Given the description of an element on the screen output the (x, y) to click on. 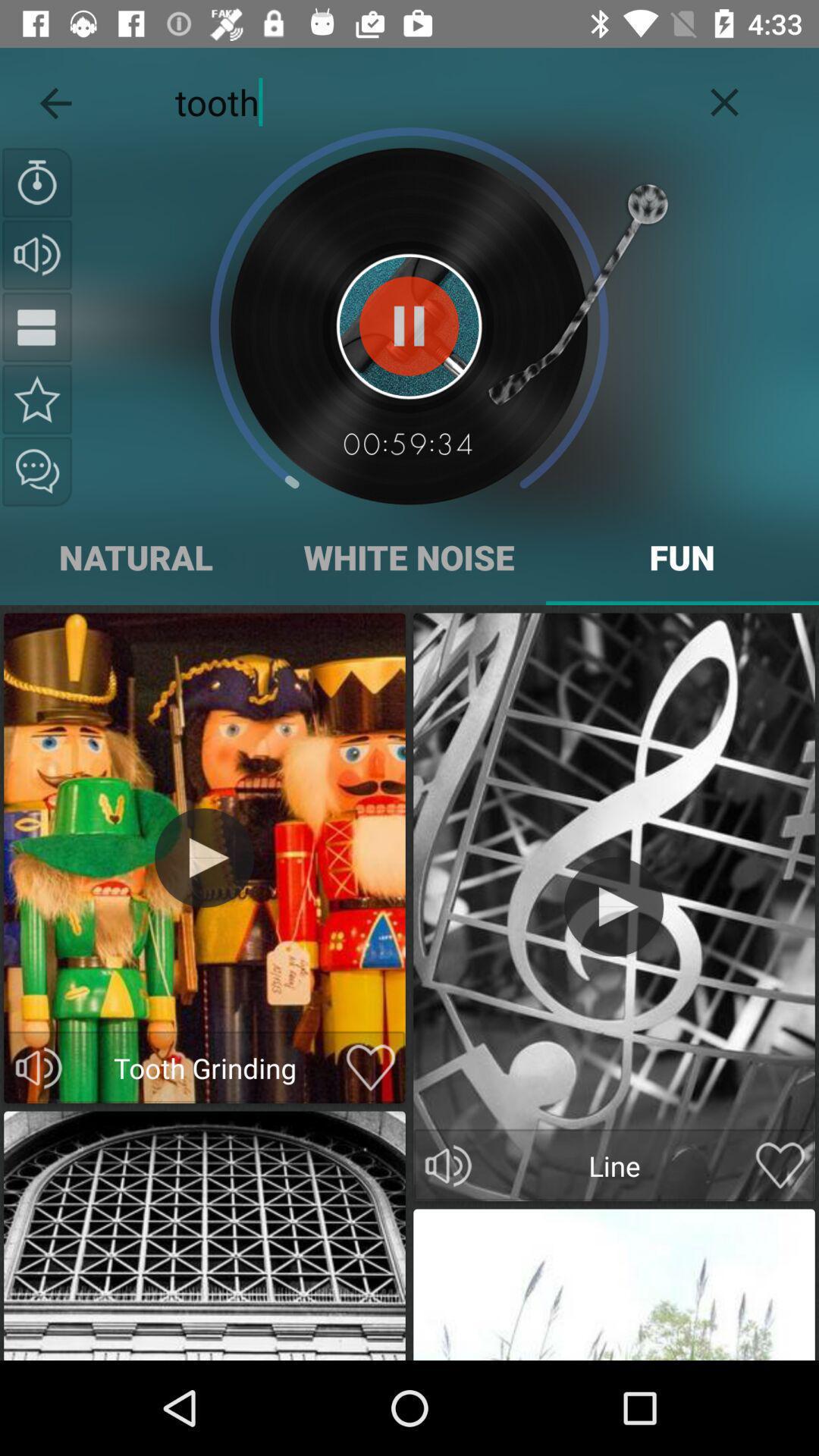
play sound (613, 906)
